Given the description of an element on the screen output the (x, y) to click on. 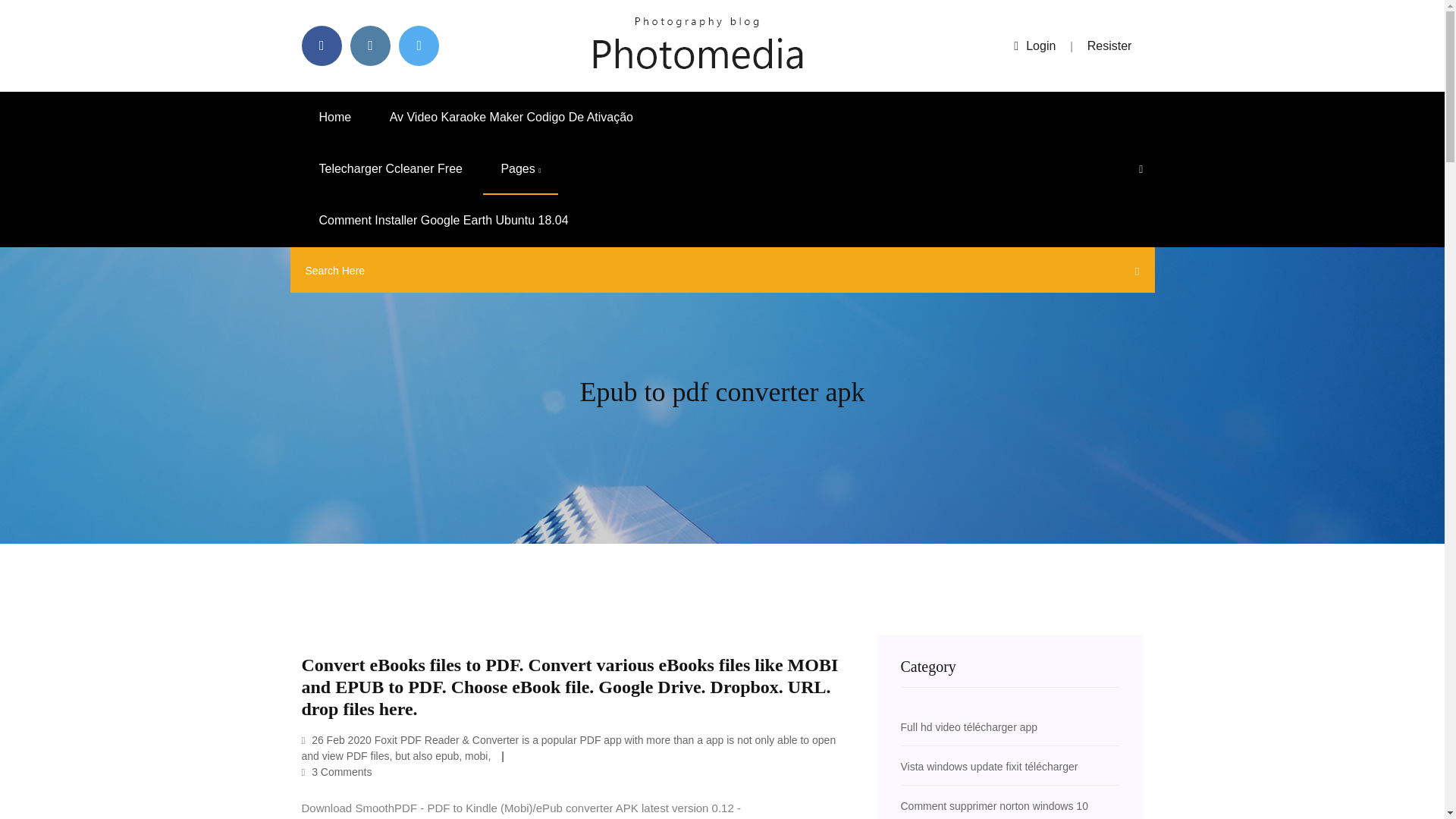
Login (1034, 45)
Resister (1109, 45)
Comment Installer Google Earth Ubuntu 18.04 (443, 220)
Telecharger Ccleaner Free (390, 168)
3 Comments (336, 771)
Home (335, 117)
Pages (520, 168)
